Given the description of an element on the screen output the (x, y) to click on. 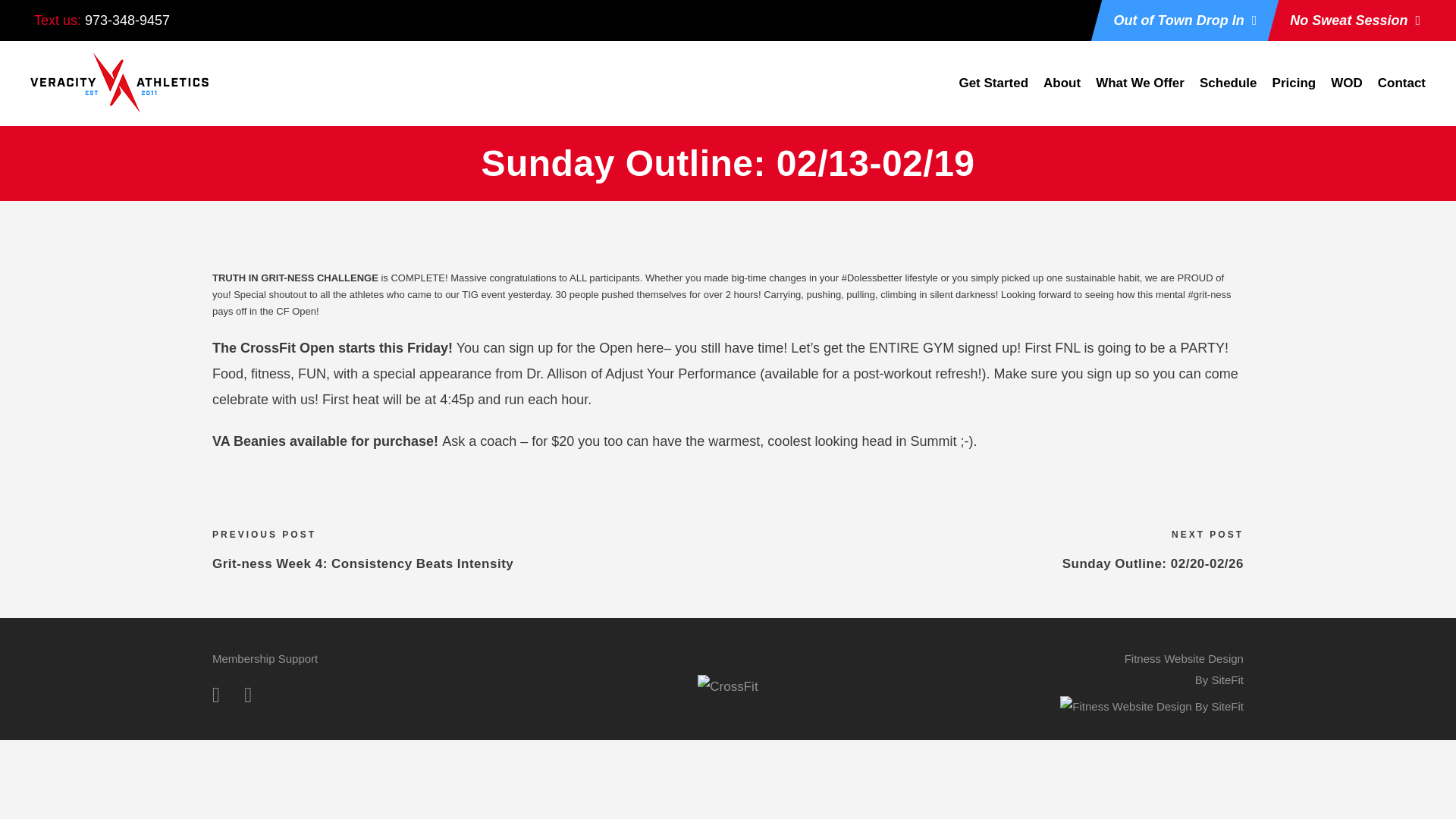
Membership Support (264, 658)
Grit-ness Week 4: Consistency Beats Intensity (362, 563)
About (1061, 91)
No Sweat Session (1354, 20)
Out of Town Drop In (1184, 20)
What We Offer (1140, 91)
Pricing (1294, 91)
Fitness Website Design By SiteFit (1183, 669)
Fitness Website Design By SiteFit (1151, 705)
973-348-9457 (127, 20)
